Given the description of an element on the screen output the (x, y) to click on. 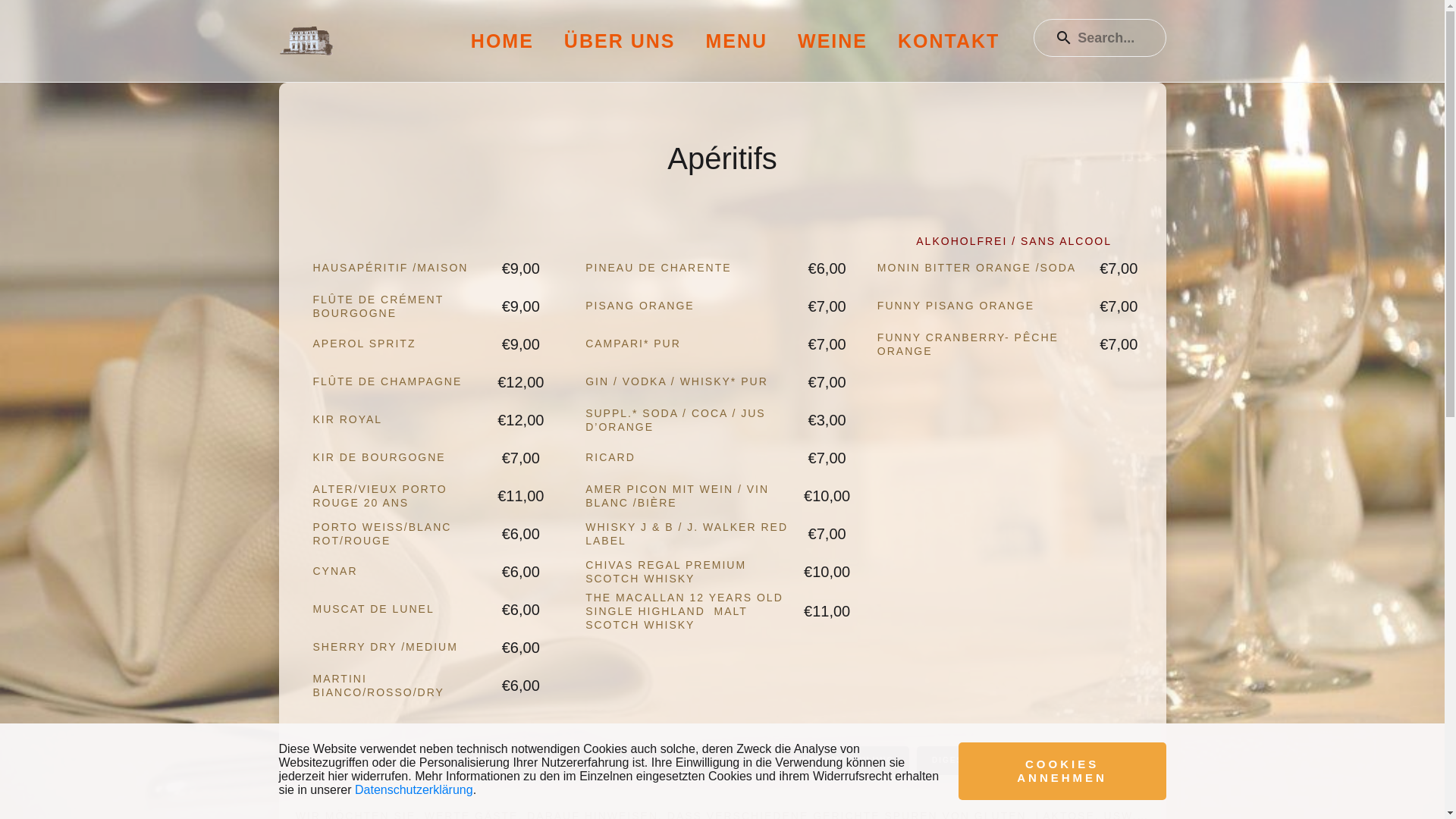
MENU Element type: text (472, 760)
KONTAKT Element type: text (948, 40)
WEINE Element type: text (832, 40)
COOKIES ANNEHMEN Element type: text (1062, 771)
HOME Element type: text (502, 40)
MENU Element type: text (735, 40)
WEINKARTE Element type: text (555, 760)
WEINEMPFEHLUNG Element type: text (846, 760)
DIGESTIFS Element type: text (958, 760)
